Given the description of an element on the screen output the (x, y) to click on. 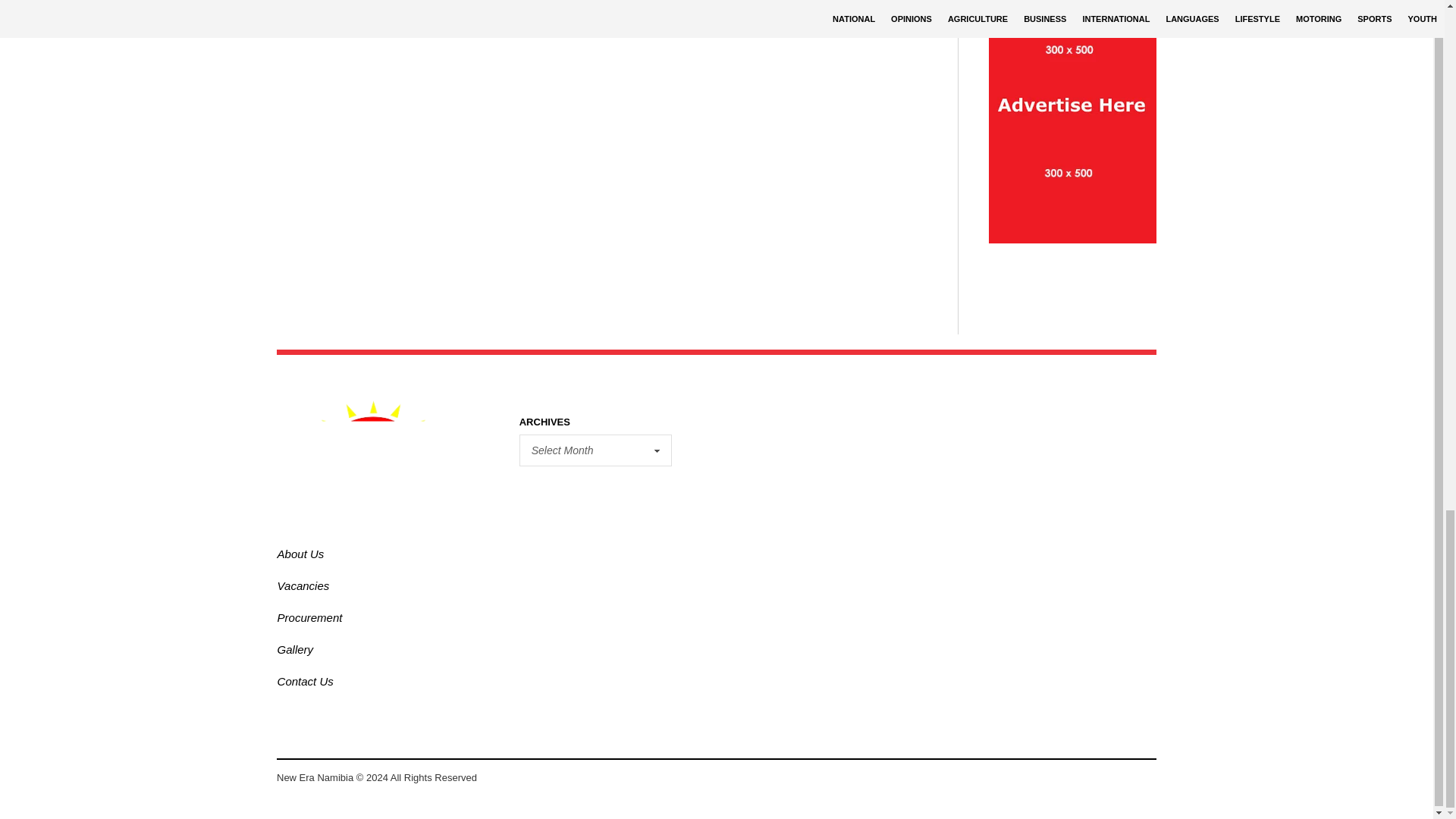
Vacancies (304, 585)
Procurement (310, 617)
Gallery (296, 649)
